Given the description of an element on the screen output the (x, y) to click on. 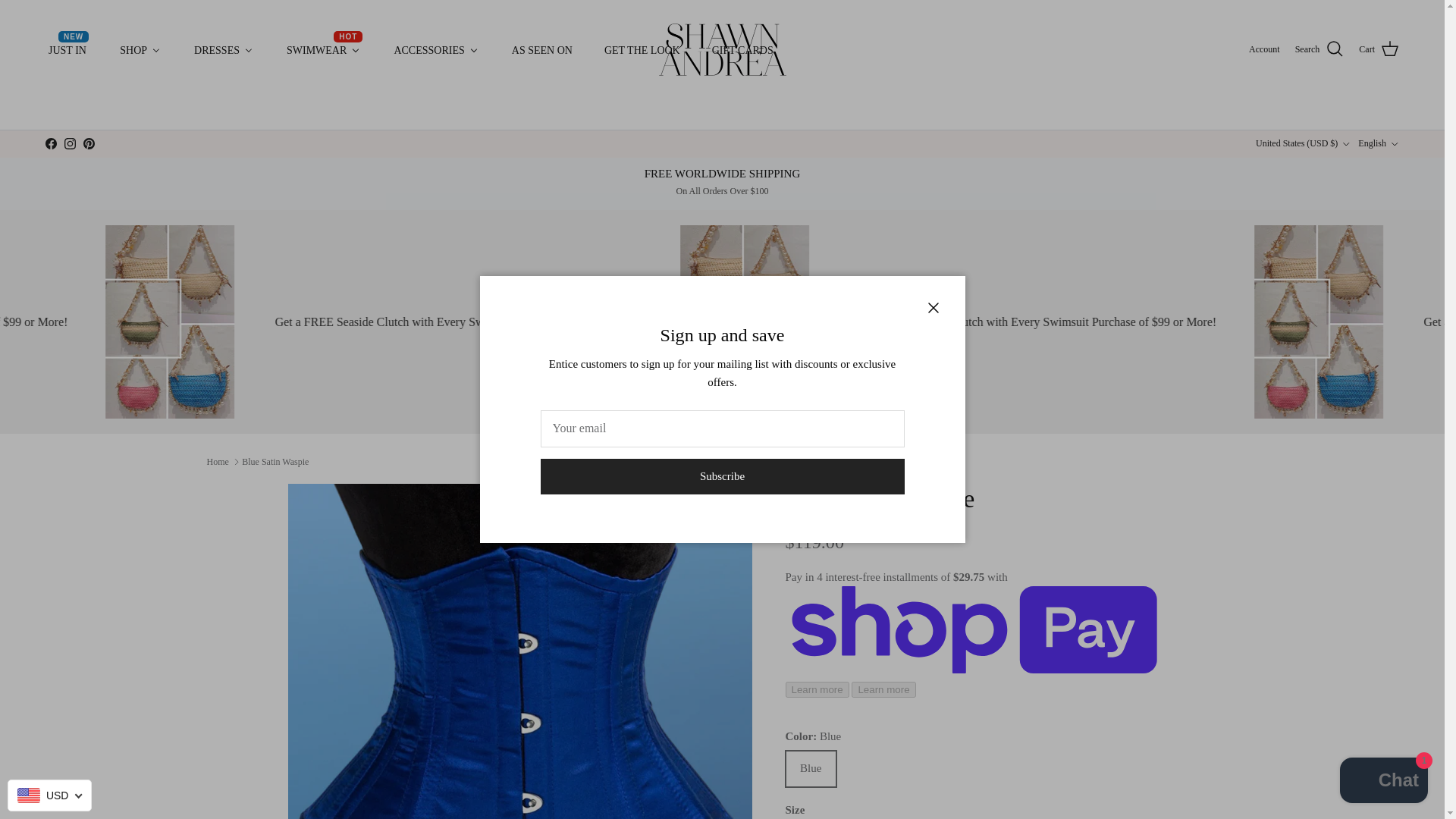
JUST INNEW (67, 50)
SHAWN ANDREA on Facebook (50, 143)
SHAWN ANDREA on Instagram (69, 143)
SHAWN ANDREA on Pinterest (88, 143)
SHOP (323, 50)
DRESSES (140, 50)
SHAWN ANDREA (223, 50)
ACCESSORIES (722, 49)
